Given the description of an element on the screen output the (x, y) to click on. 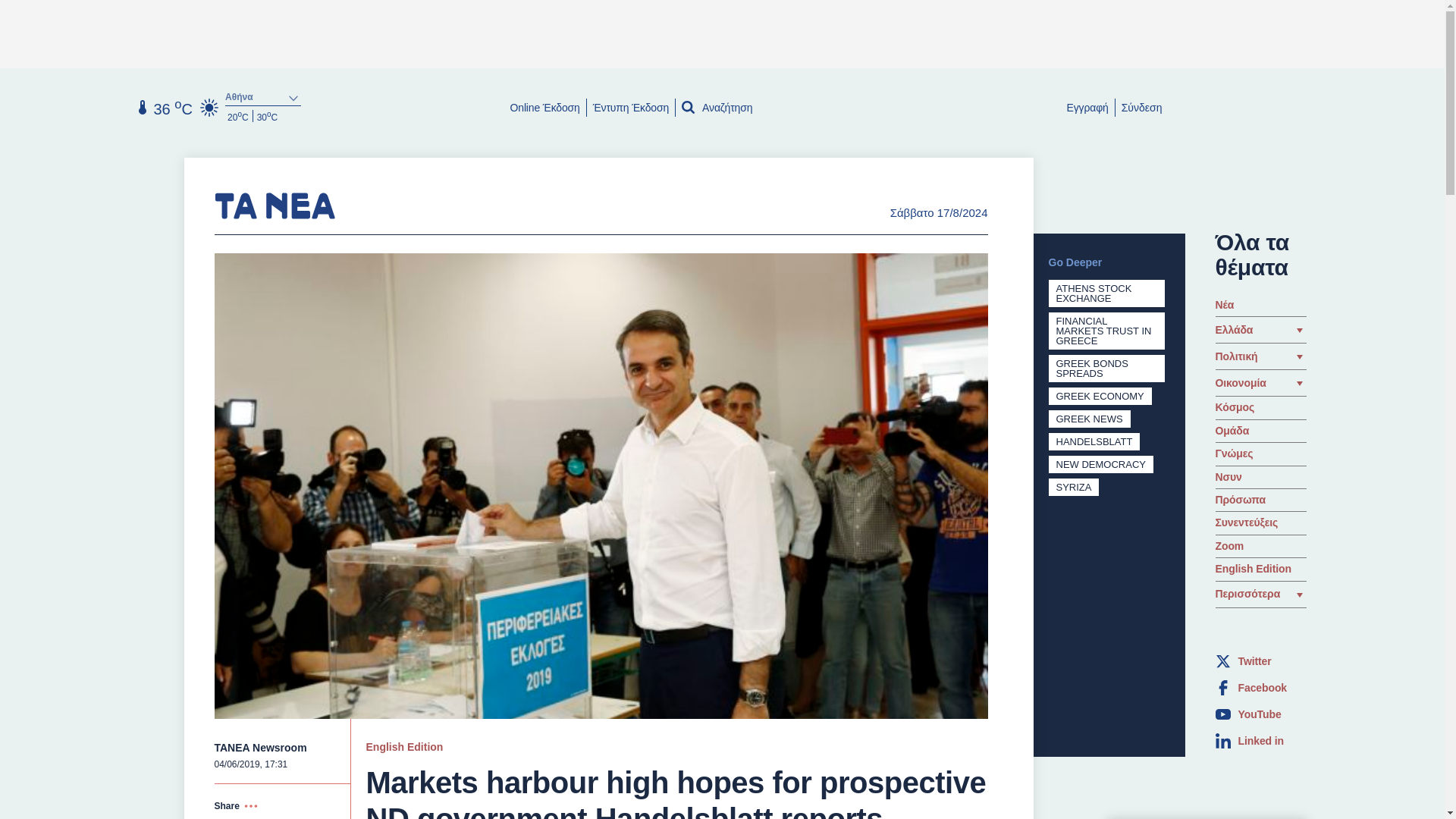
FINANCIAL MARKETS TRUST IN GREECE (1103, 330)
ATHENS STOCK EXCHANGE (1093, 292)
English Edition (403, 746)
TANEA Newsroom (259, 747)
